Given the description of an element on the screen output the (x, y) to click on. 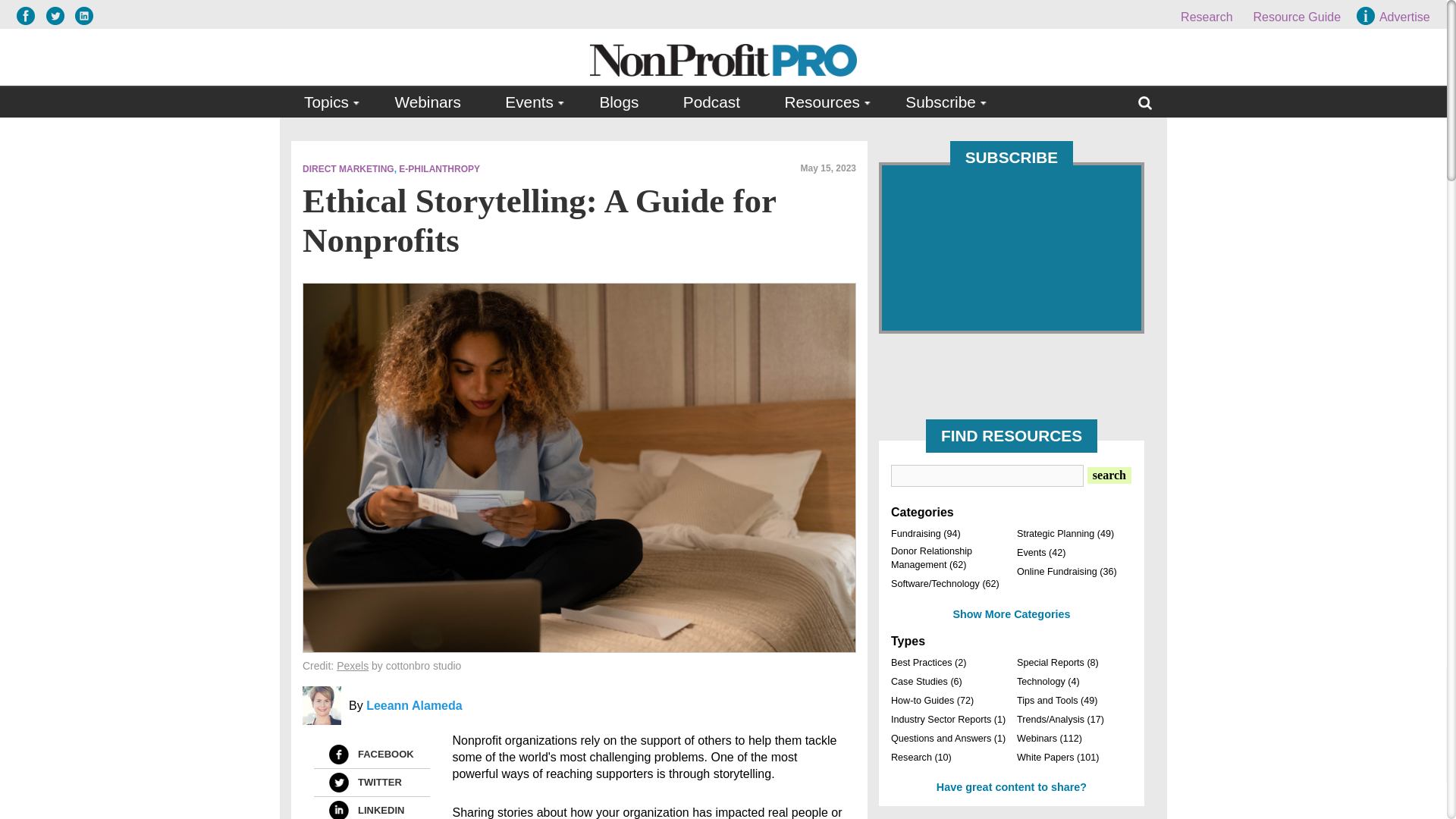
Advertise (1395, 16)
Resource Guide (1296, 16)
Topics (327, 101)
Opens in a new window (58, 15)
Research (1205, 16)
search (1109, 475)
Twitter (339, 782)
Opens in a new window (84, 15)
Facebook (339, 754)
Opens in a new window (352, 665)
